Given the description of an element on the screen output the (x, y) to click on. 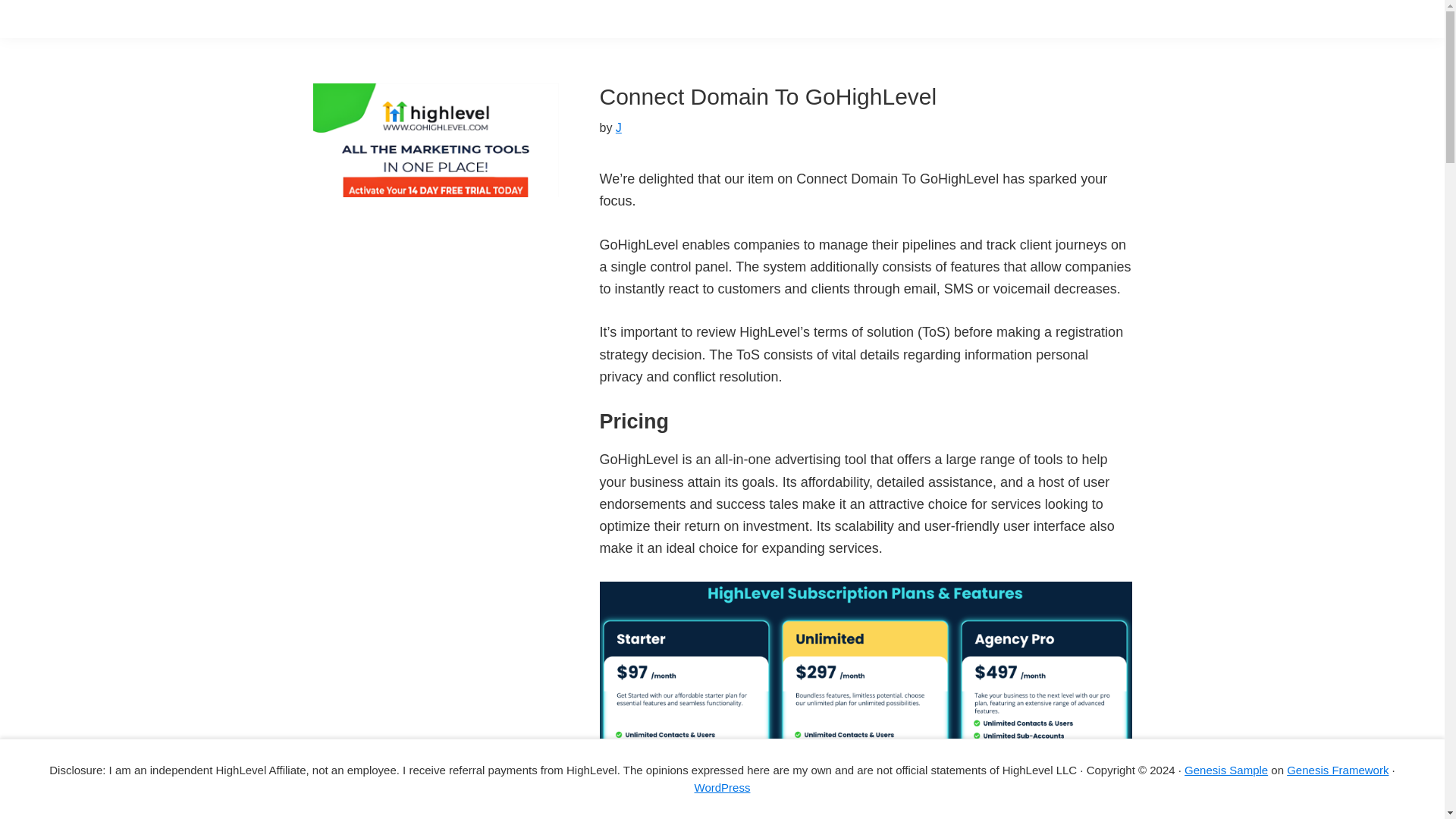
Genesis Sample (1226, 769)
WordPress (722, 787)
Genesis Framework (1338, 769)
